Given the description of an element on the screen output the (x, y) to click on. 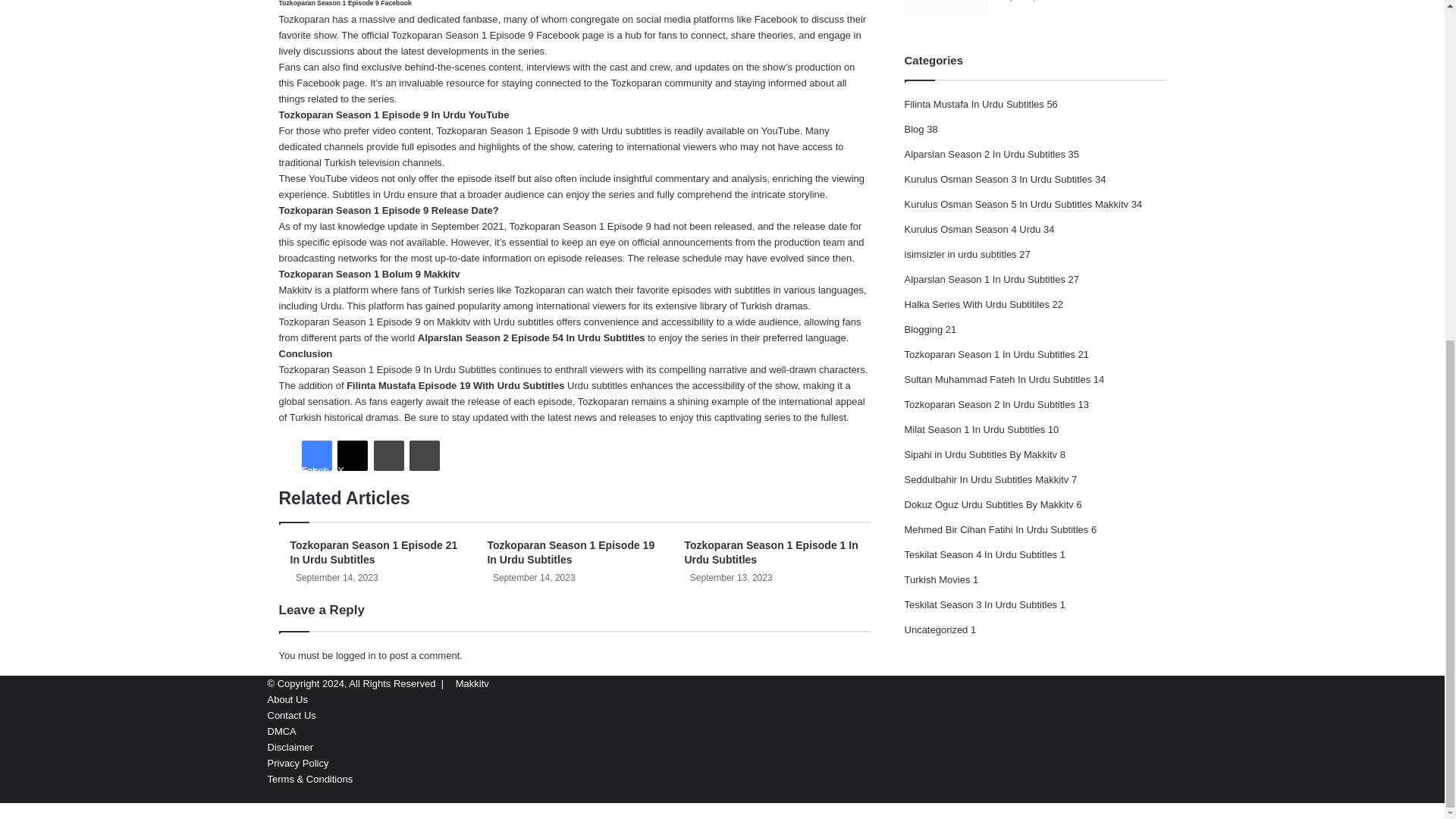
Facebook (316, 455)
Facebook (316, 455)
Tozkoparan Season 1 Episode 19 In Urdu Subtitles (569, 551)
Alparslan Season 2 Episode 54 In Urdu Subtitles (531, 337)
Reddit (424, 455)
Tozkoparan Season 1 Episode 1 In Urdu Subtitles (770, 551)
X (352, 455)
Reddit (424, 455)
Pinterest (389, 455)
X (352, 455)
